Given the description of an element on the screen output the (x, y) to click on. 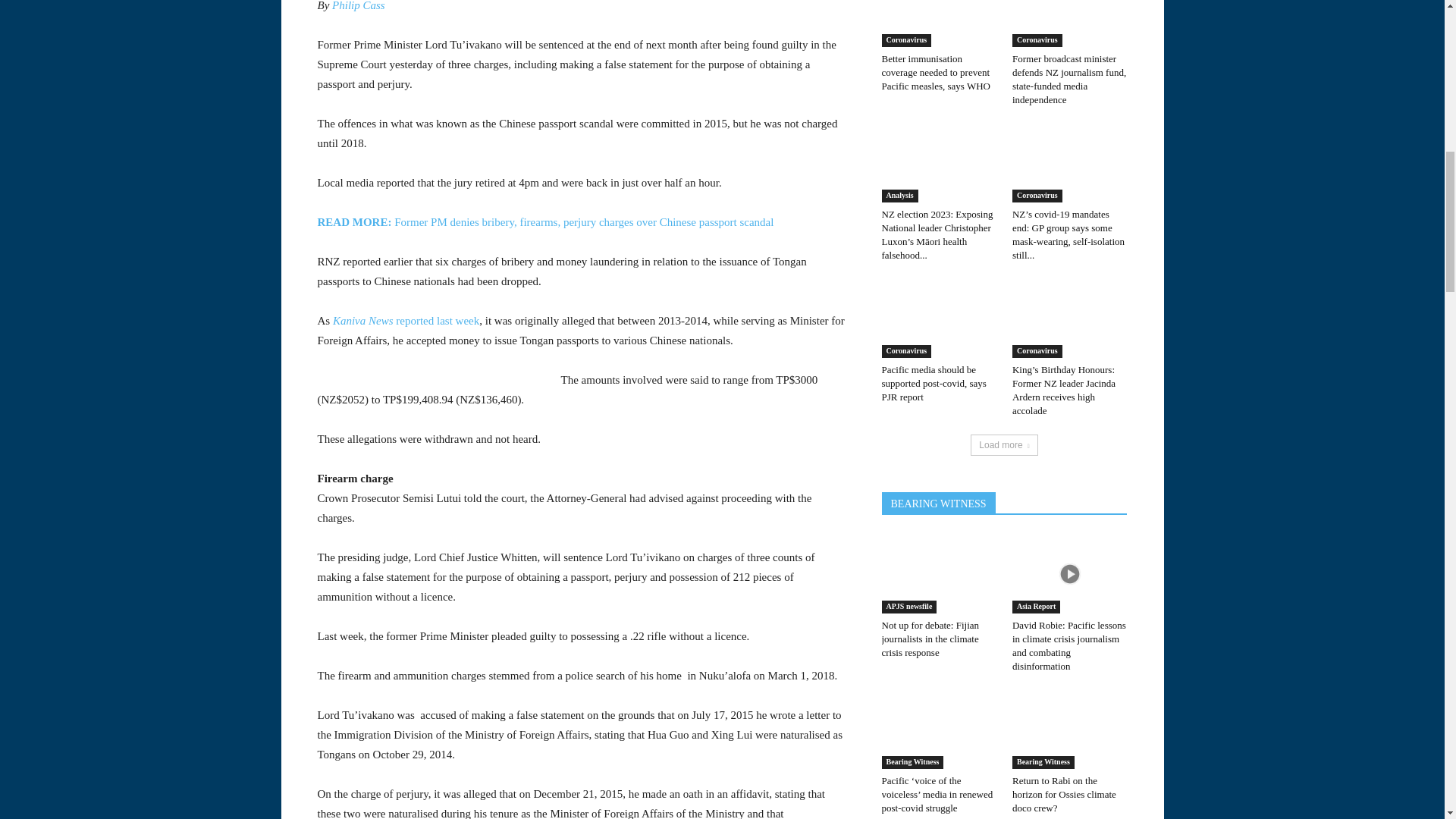
Tonga (140, 35)
Indonesia (140, 265)
Vanuatu (140, 92)
Lao (140, 294)
Malaysia (140, 323)
Myanmar (140, 352)
Brunei (140, 179)
Tokelau (140, 10)
Asia Report (140, 150)
China (140, 236)
West Papua (140, 121)
Tuvalu (140, 63)
Cambodia (140, 208)
